Given the description of an element on the screen output the (x, y) to click on. 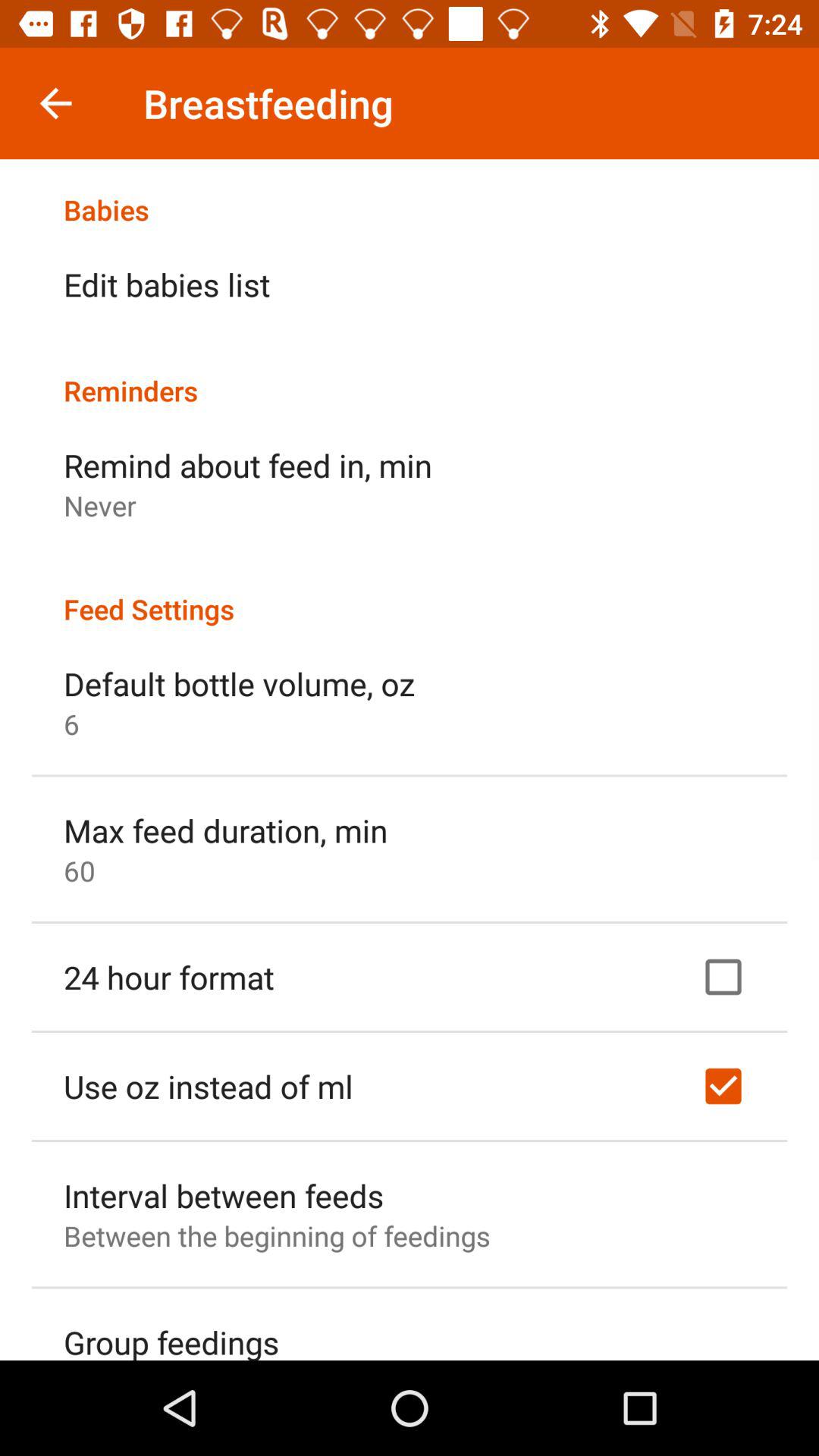
flip to 6 (71, 723)
